Given the description of an element on the screen output the (x, y) to click on. 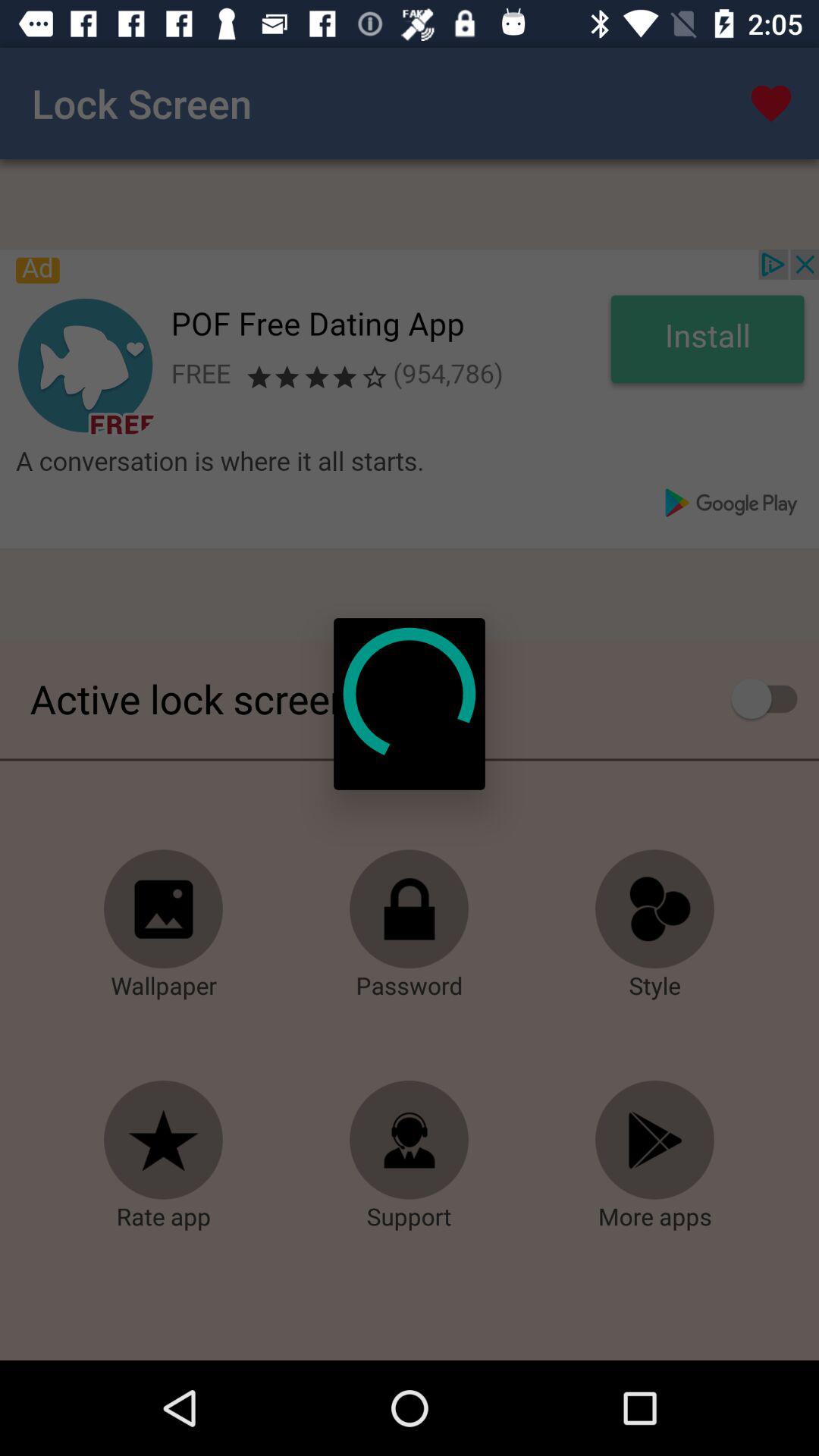
lock (409, 909)
